Given the description of an element on the screen output the (x, y) to click on. 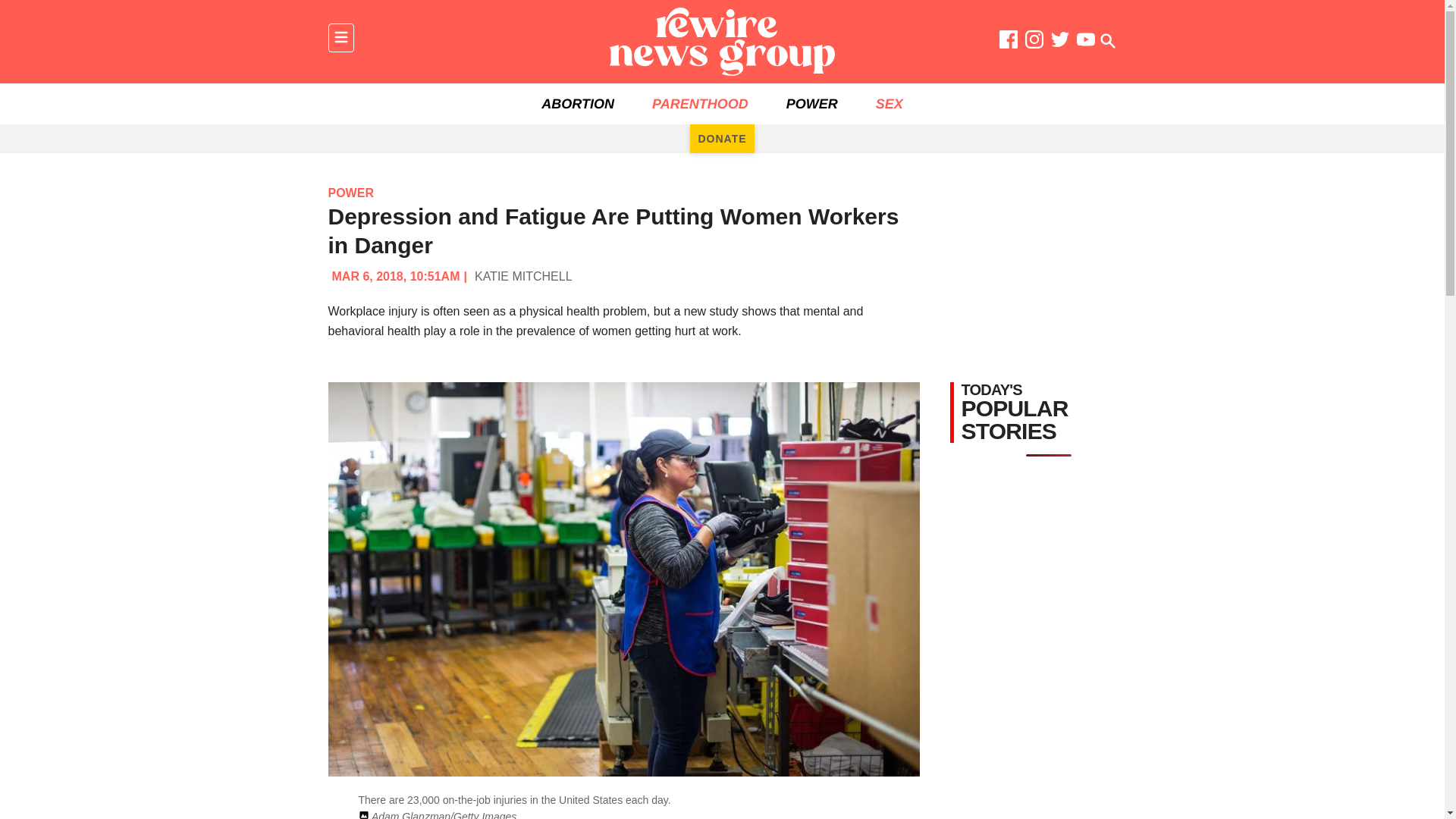
POWER (812, 103)
ABORTION (577, 103)
PARENTHOOD (700, 103)
POWER (349, 192)
DONATE (722, 138)
MENU (340, 37)
TWITTER (1059, 41)
FACEBOOK (1007, 41)
SEX (889, 103)
KATIE MITCHELL (523, 276)
